Given the description of an element on the screen output the (x, y) to click on. 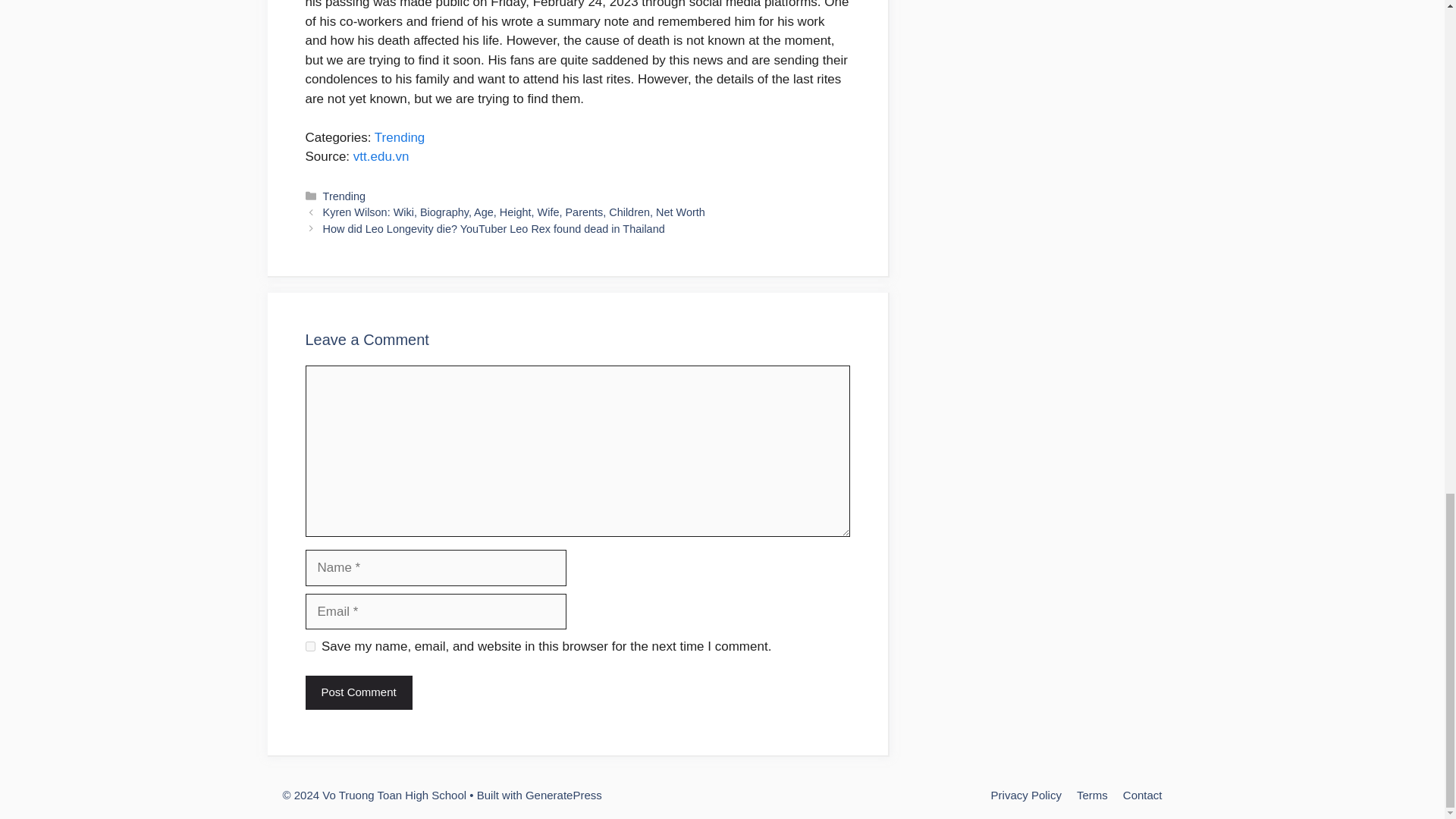
Contact (1141, 794)
Post Comment (358, 692)
Terms (1092, 794)
Post Comment (358, 692)
yes (309, 646)
vtt.edu.vn (381, 156)
Privacy Policy (1026, 794)
Trending (399, 137)
GeneratePress (563, 794)
Trending (344, 196)
